Given the description of an element on the screen output the (x, y) to click on. 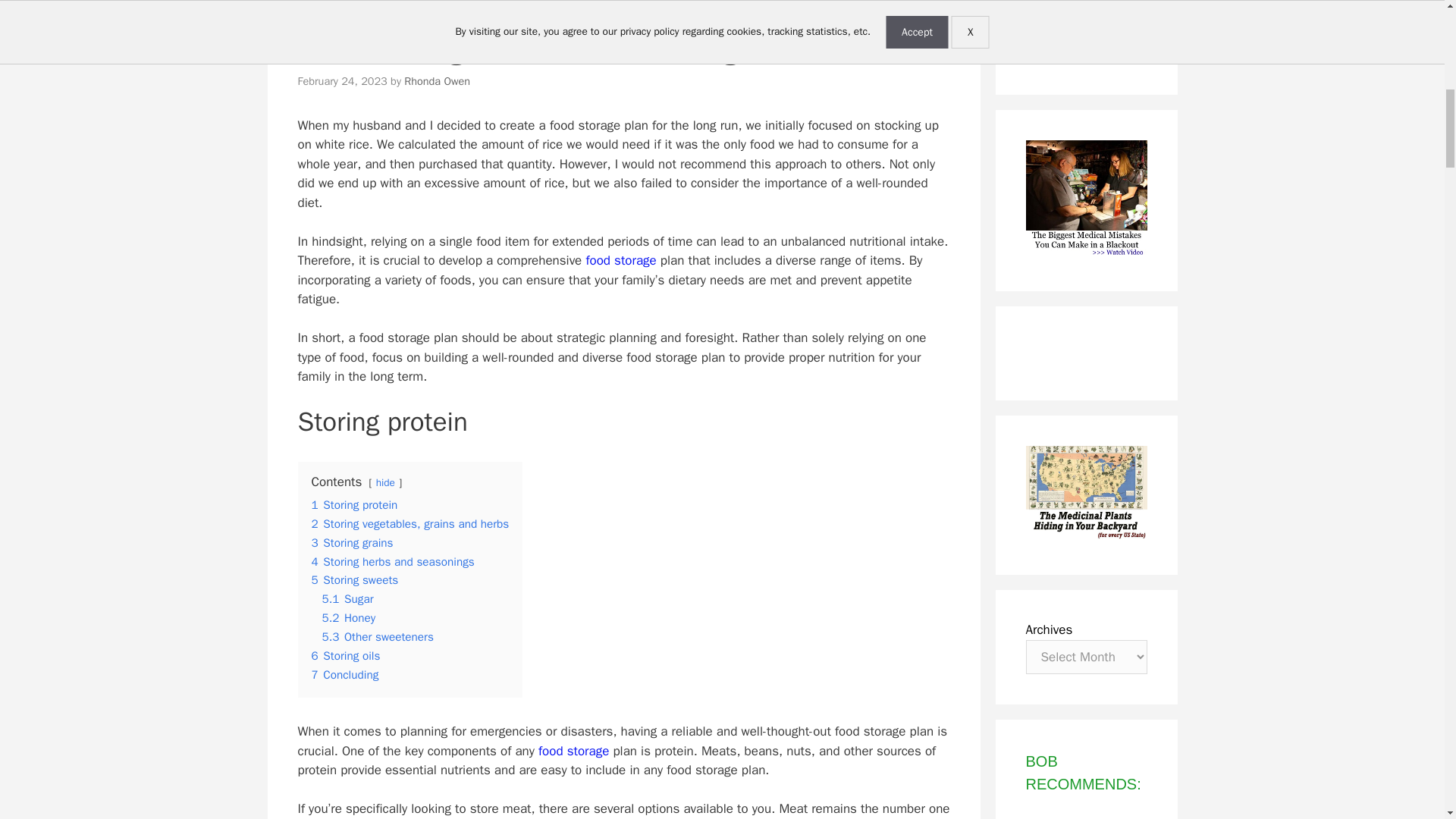
hide (384, 481)
Pinterest (1088, 28)
7 Concluding (344, 674)
food storage (573, 750)
5.1 Sugar (346, 598)
Facebook (1053, 28)
1 Storing protein (354, 504)
View all posts by Rhonda Owen (437, 80)
food storage (620, 260)
2 Storing vegetables, grains and herbs (409, 523)
